Given the description of an element on the screen output the (x, y) to click on. 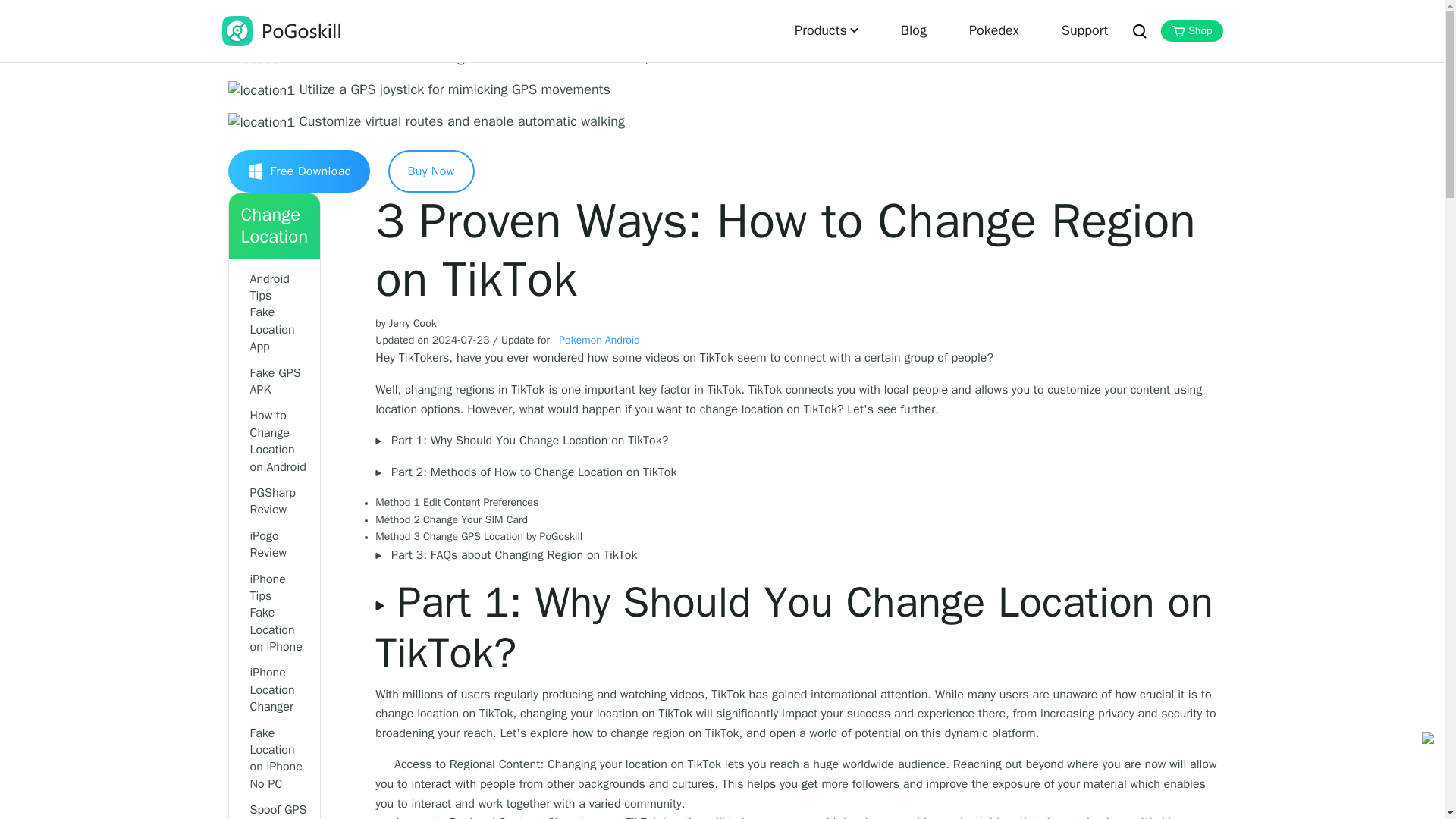
Pokedex (994, 31)
Buy Now (431, 170)
Support (1085, 31)
Products (826, 31)
Blog (913, 31)
Shop (1191, 30)
Free Download (298, 170)
